Given the description of an element on the screen output the (x, y) to click on. 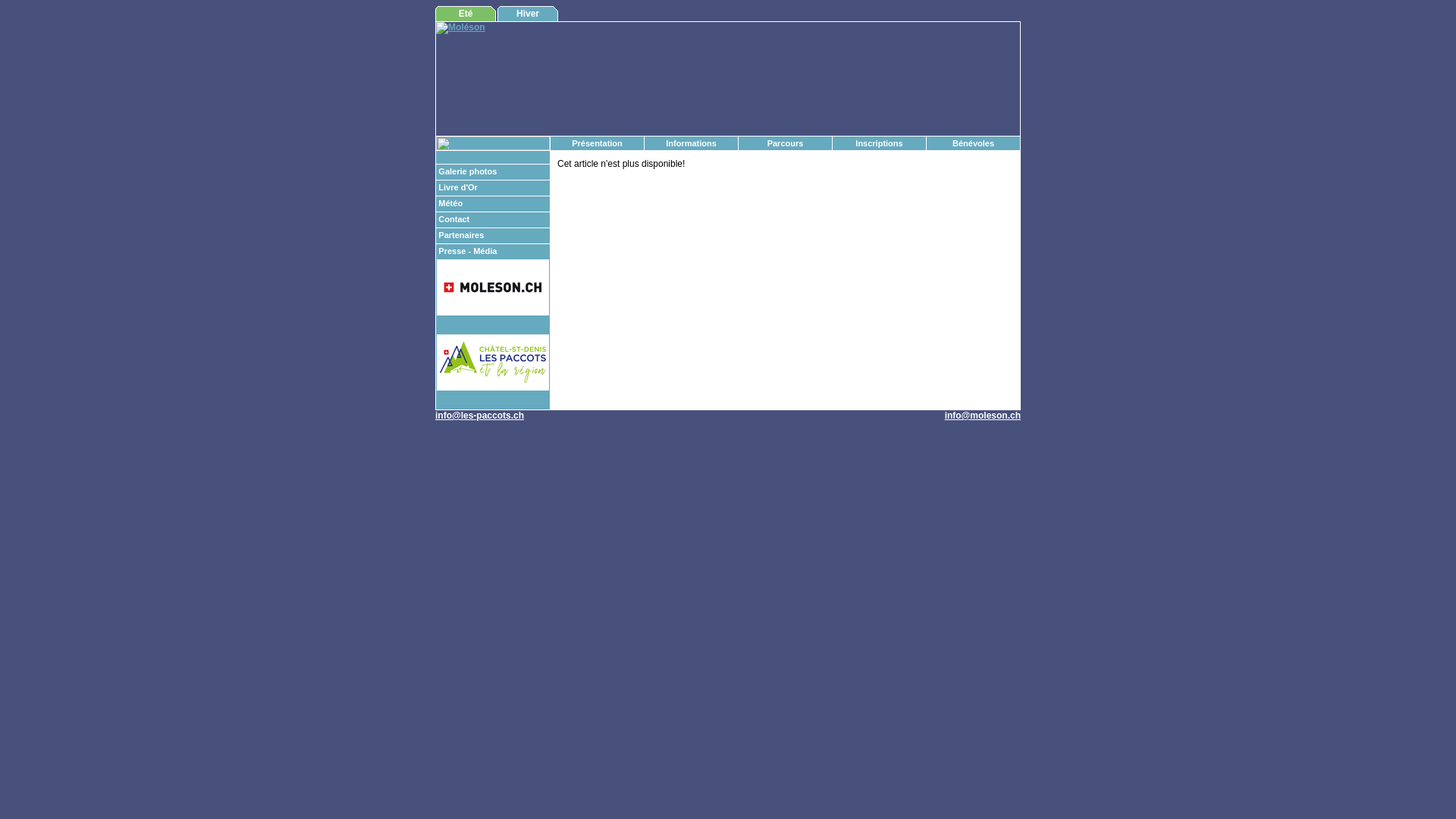
info@moleson.ch Element type: text (982, 415)
Livre d'Or Element type: text (457, 186)
Informations Element type: text (690, 142)
Contact Element type: text (453, 218)
Galerie photos Element type: text (467, 170)
Parcours Element type: text (785, 142)
info@les-paccots.ch Element type: text (479, 415)
Hiver Element type: text (527, 13)
Partenaires Element type: text (460, 234)
Inscriptions Element type: text (878, 142)
